Given the description of an element on the screen output the (x, y) to click on. 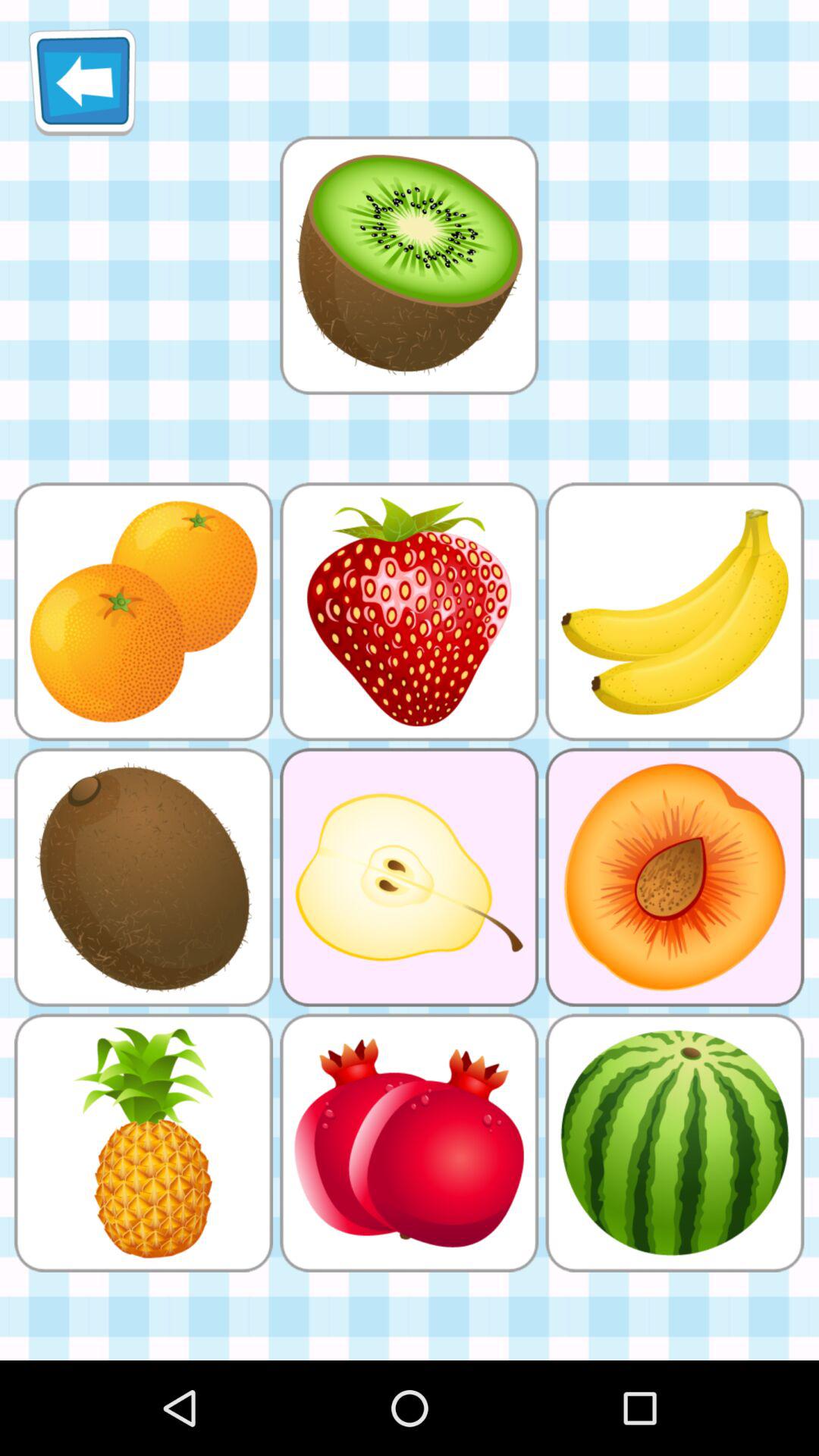
select fruit (409, 265)
